Given the description of an element on the screen output the (x, y) to click on. 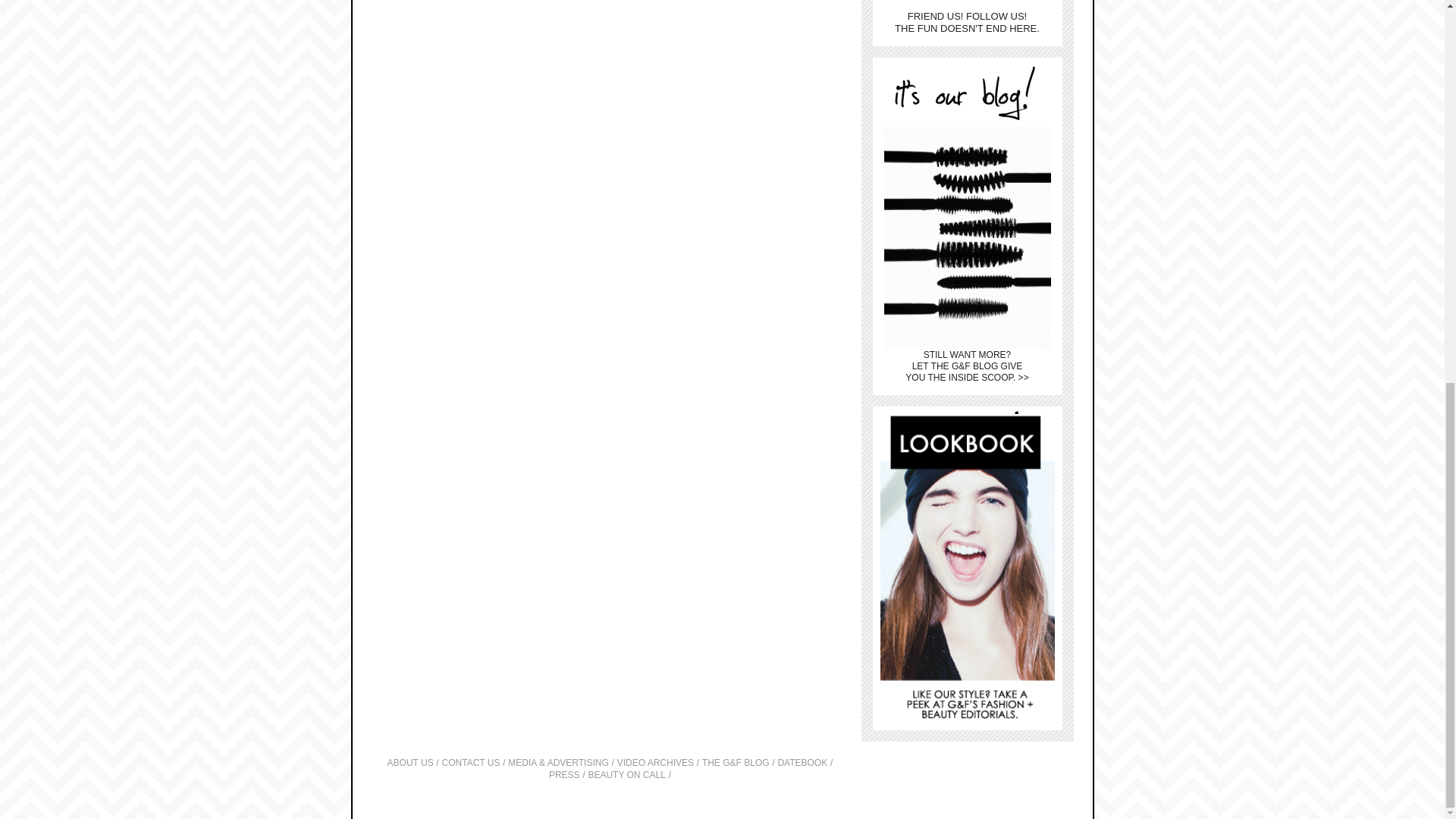
VIDEO ARCHIVES (655, 762)
CONTACT US (471, 762)
PRESS (563, 774)
DATEBOOK (802, 762)
BEAUTY ON CALL (626, 774)
ABOUT US (410, 762)
